Given the description of an element on the screen output the (x, y) to click on. 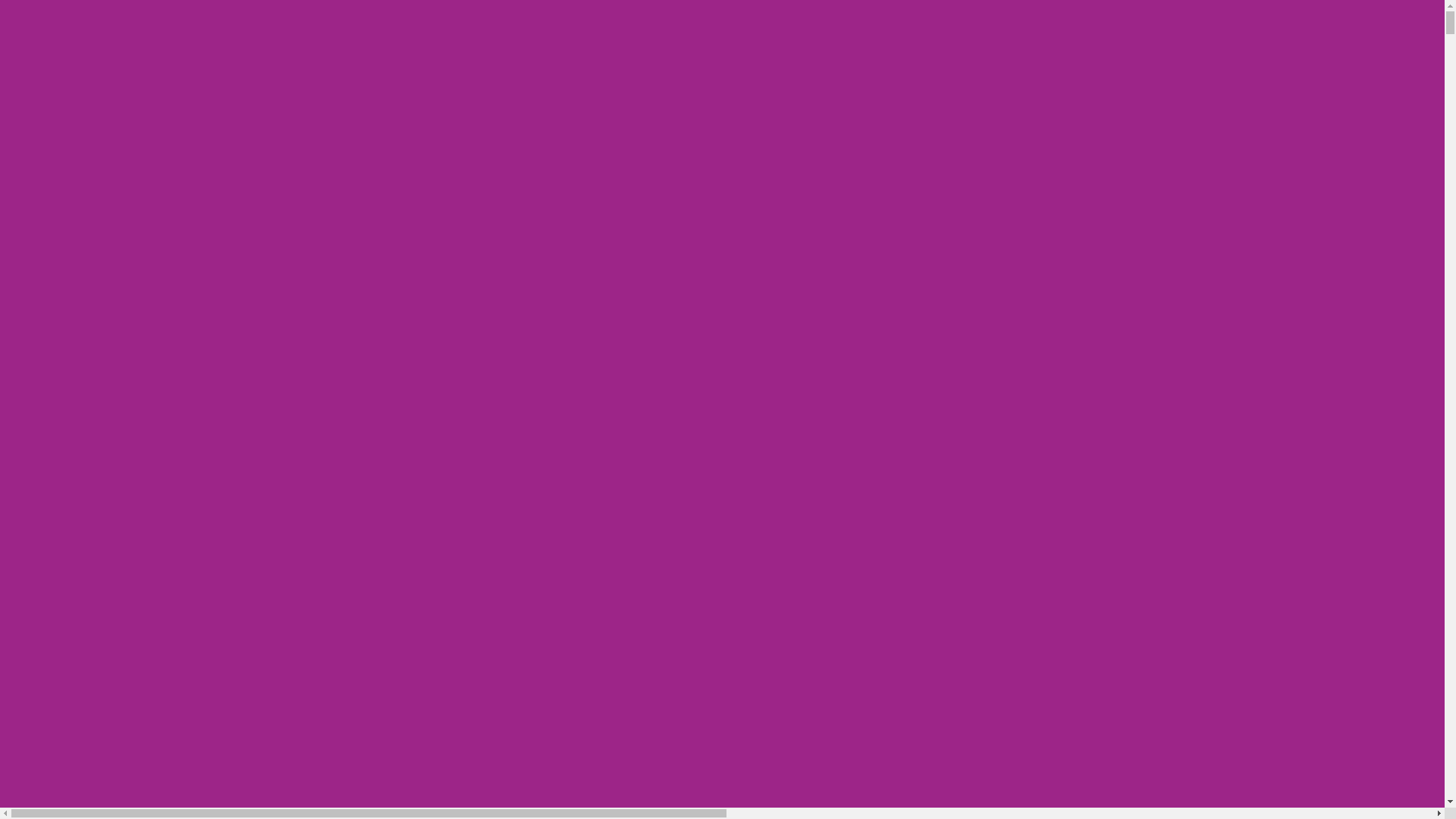
powered by Element type: text (387, 51)
deDeutsch Element type: text (441, 521)
